Given the description of an element on the screen output the (x, y) to click on. 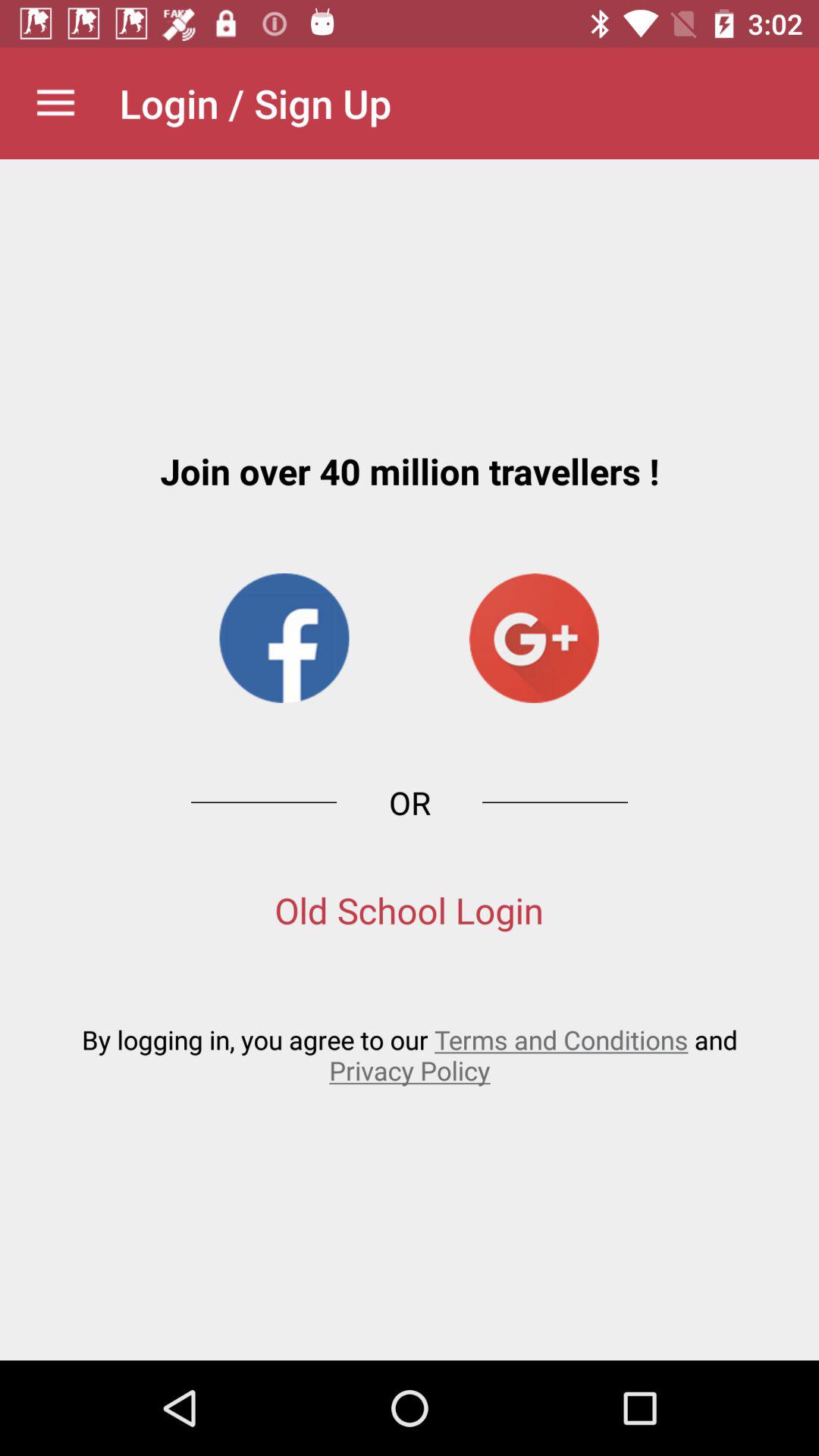
launch the item above the by logging in item (409, 910)
